Given the description of an element on the screen output the (x, y) to click on. 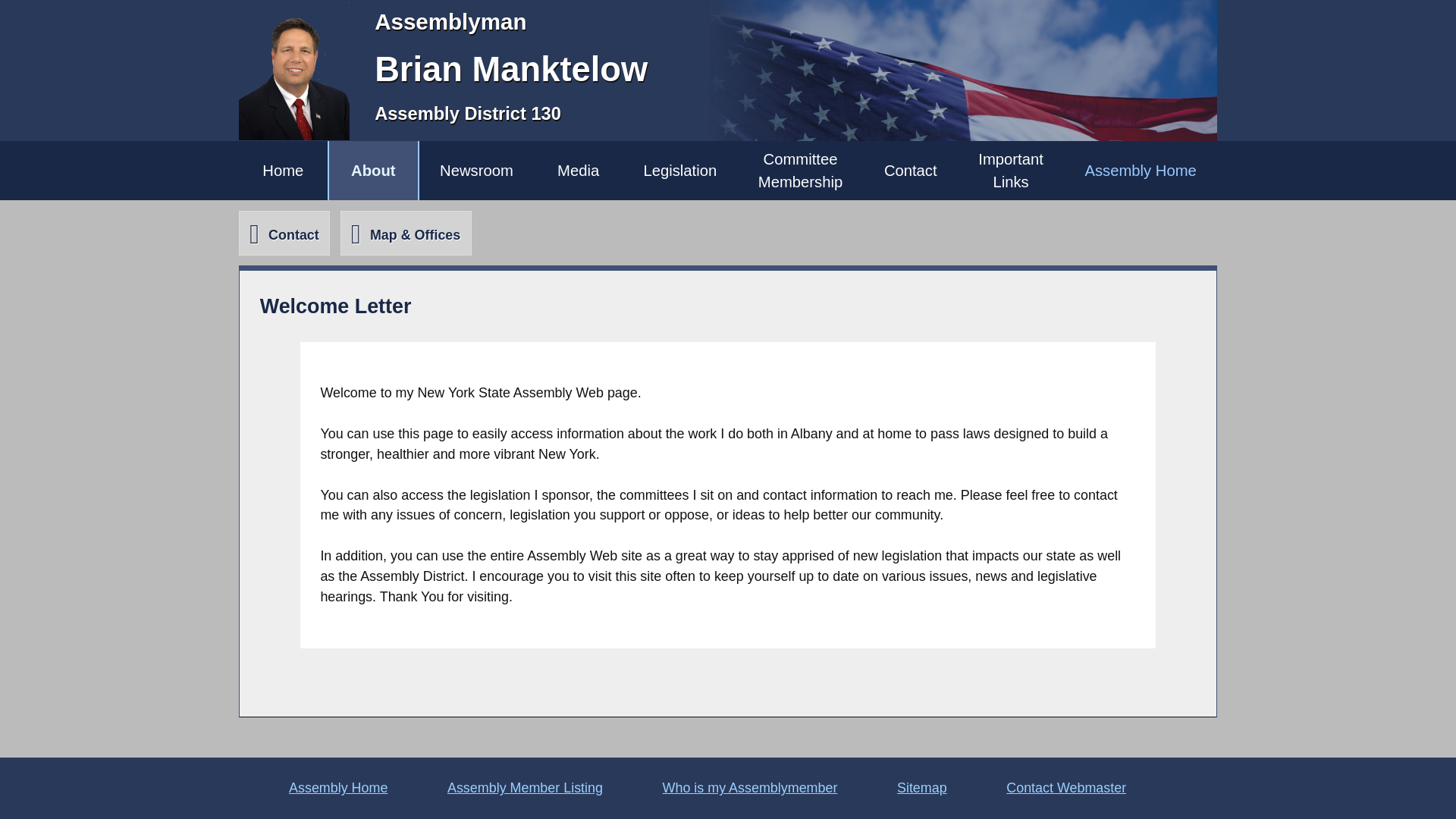
Newsroom (476, 169)
Contact (284, 232)
Legislation (679, 169)
Home (282, 169)
About (373, 169)
Contact (910, 169)
Assembly Home (1140, 169)
Media (1011, 169)
